Given the description of an element on the screen output the (x, y) to click on. 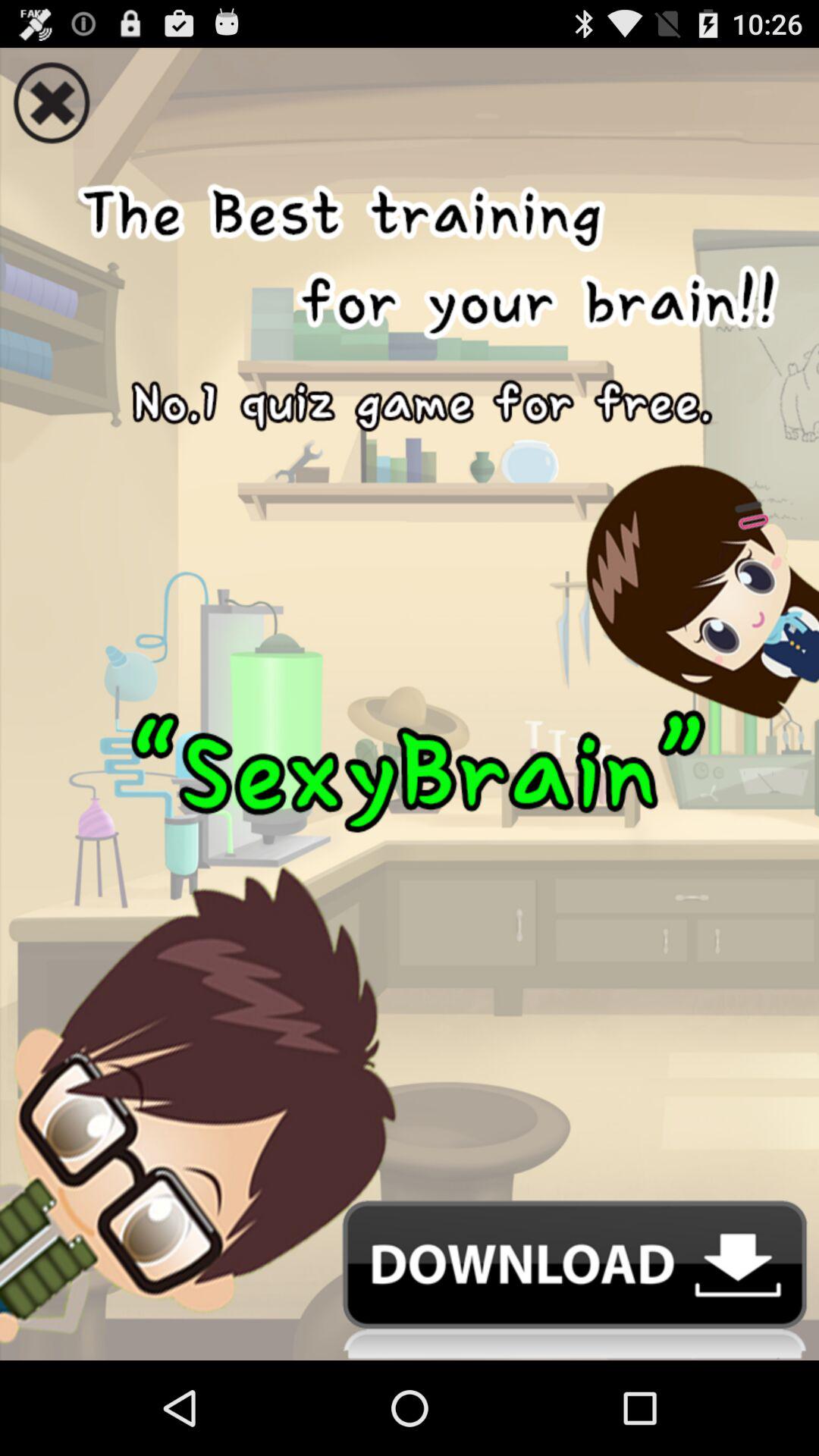
click the video (409, 674)
